Given the description of an element on the screen output the (x, y) to click on. 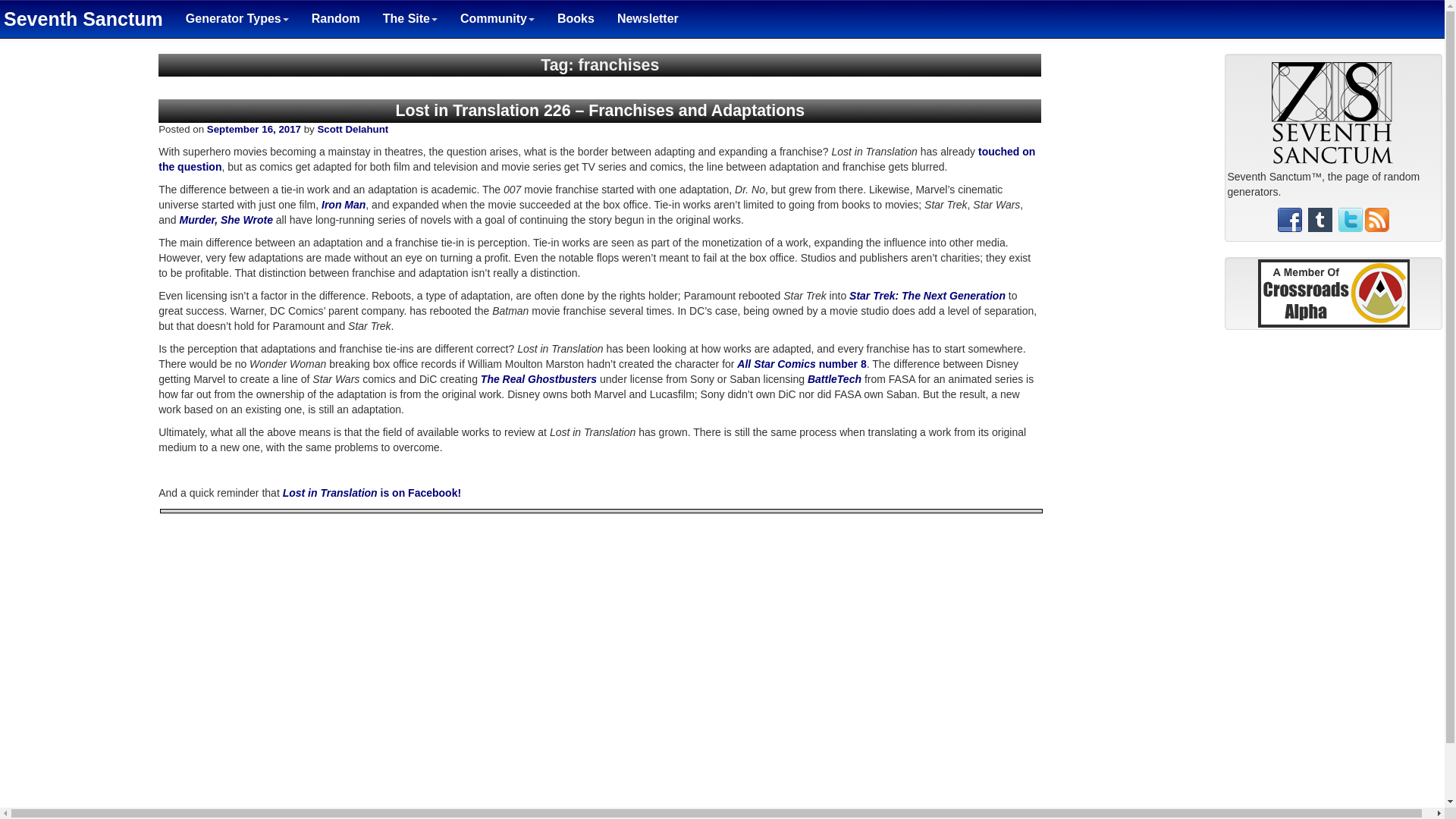
Iron Man (343, 204)
Books (575, 18)
Seventh Sanctum (87, 18)
The Site (409, 18)
View all posts by Scott Delahunt (352, 129)
Community (497, 18)
Generator Types (236, 18)
Murder, She Wrote (225, 219)
Newsletter (647, 18)
Random (335, 18)
